Given the description of an element on the screen output the (x, y) to click on. 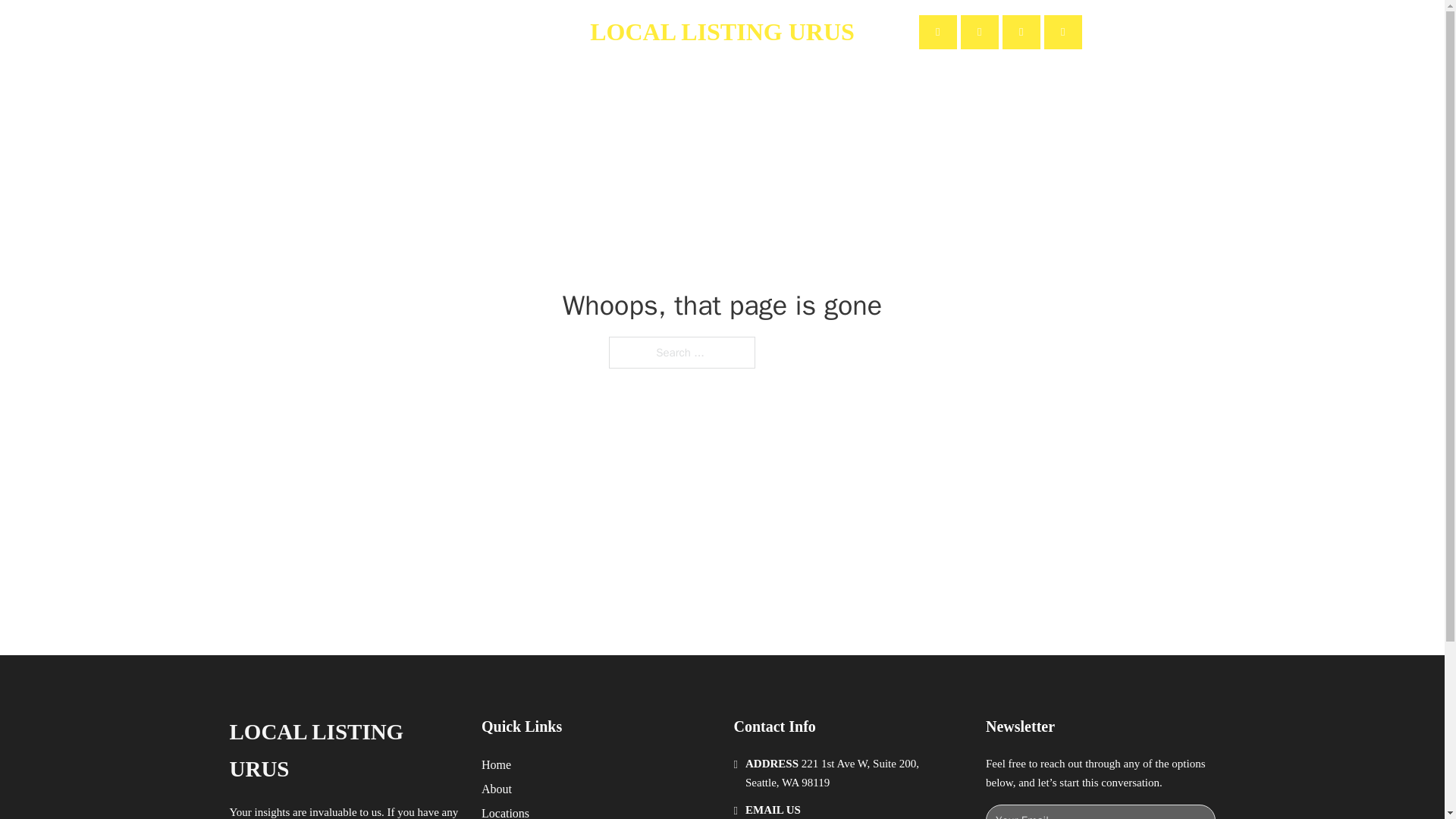
Home (496, 764)
Locations (505, 811)
Home (381, 32)
About (496, 788)
LOCAL LISTING URUS (343, 750)
LOCAL LISTING URUS (721, 31)
Contact (501, 32)
About (438, 32)
